Given the description of an element on the screen output the (x, y) to click on. 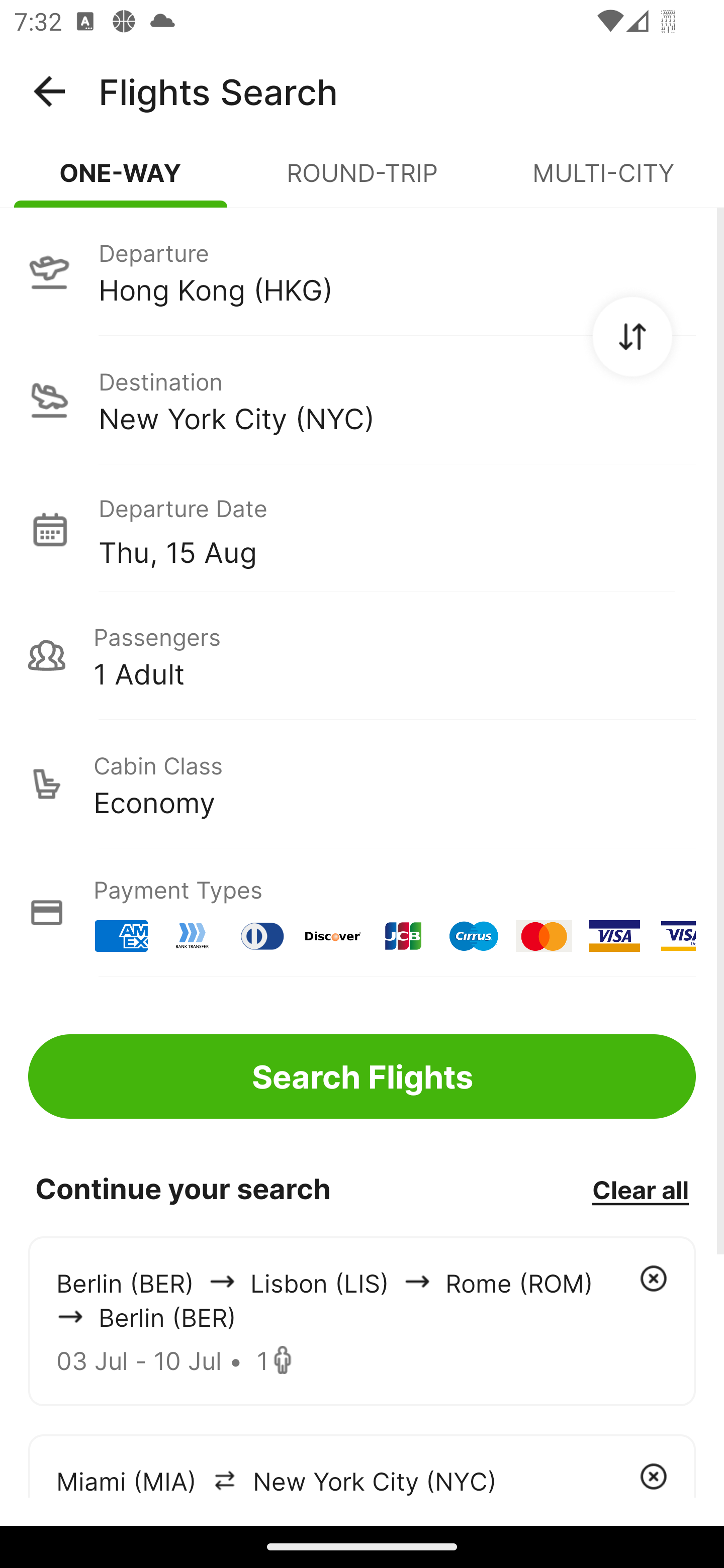
ONE-WAY (120, 180)
ROUND-TRIP (361, 180)
MULTI-CITY (603, 180)
Departure Hong Kong (HKG) (362, 270)
Destination New York City (NYC) (362, 400)
Departure Date Thu, 15 Aug (396, 528)
Passengers 1 Adult (362, 655)
Cabin Class Economy (362, 783)
Payment Types (362, 912)
Search Flights (361, 1075)
Clear all (640, 1189)
Miami (MIA)  arrowIcon  New York City (NYC) (361, 1465)
